Given the description of an element on the screen output the (x, y) to click on. 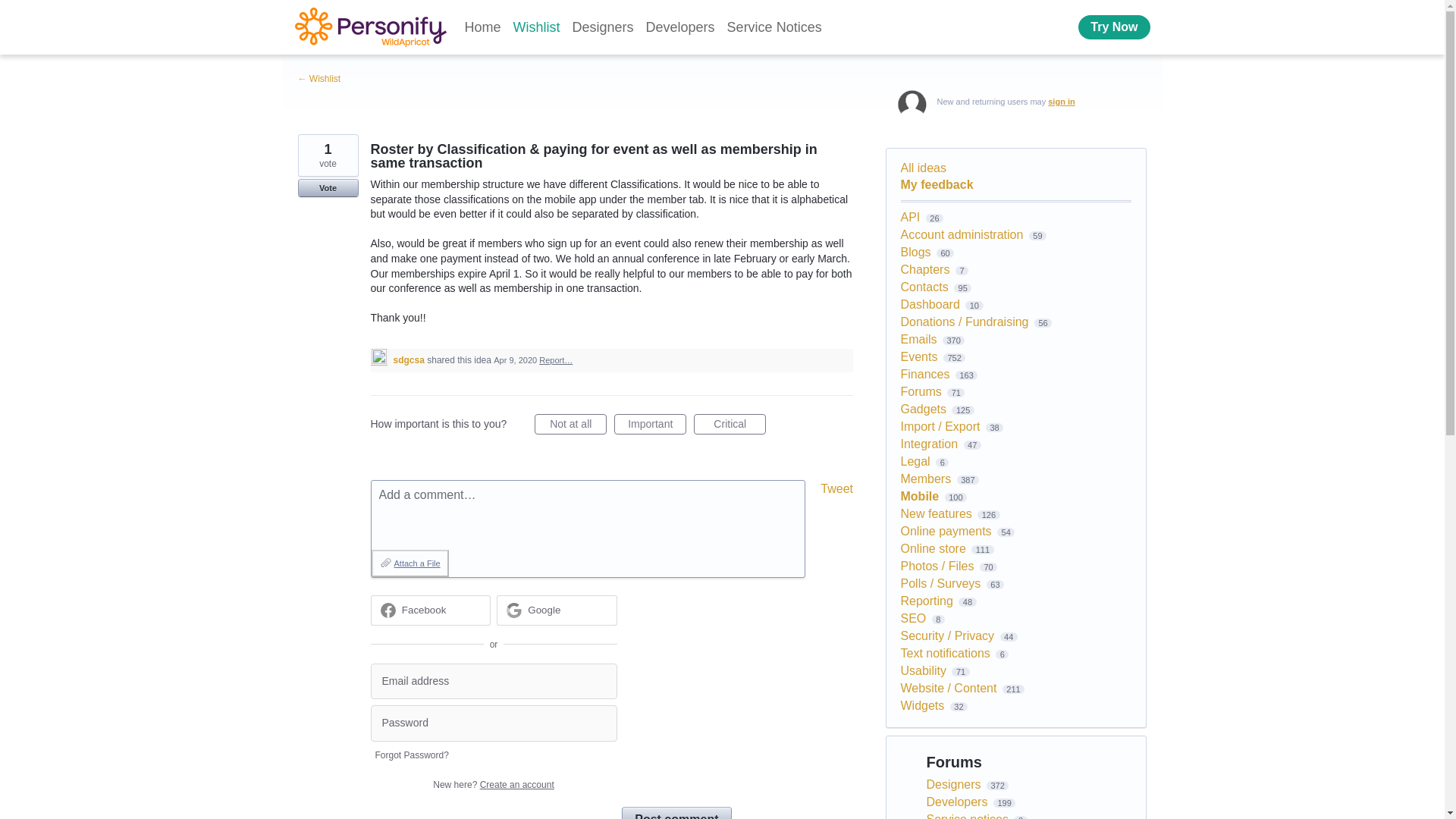
Designers (603, 27)
Critical (729, 424)
Wishlist (536, 27)
Skip to content (12, 12)
Google sign in (556, 610)
Important (649, 424)
Try Now (1114, 27)
Membership Software - WildApricot (369, 26)
Service Notices (774, 27)
Developers (680, 27)
Not at all (570, 424)
Tweet (837, 488)
Vote (327, 188)
Home (482, 27)
Try Now (1114, 27)
